Given the description of an element on the screen output the (x, y) to click on. 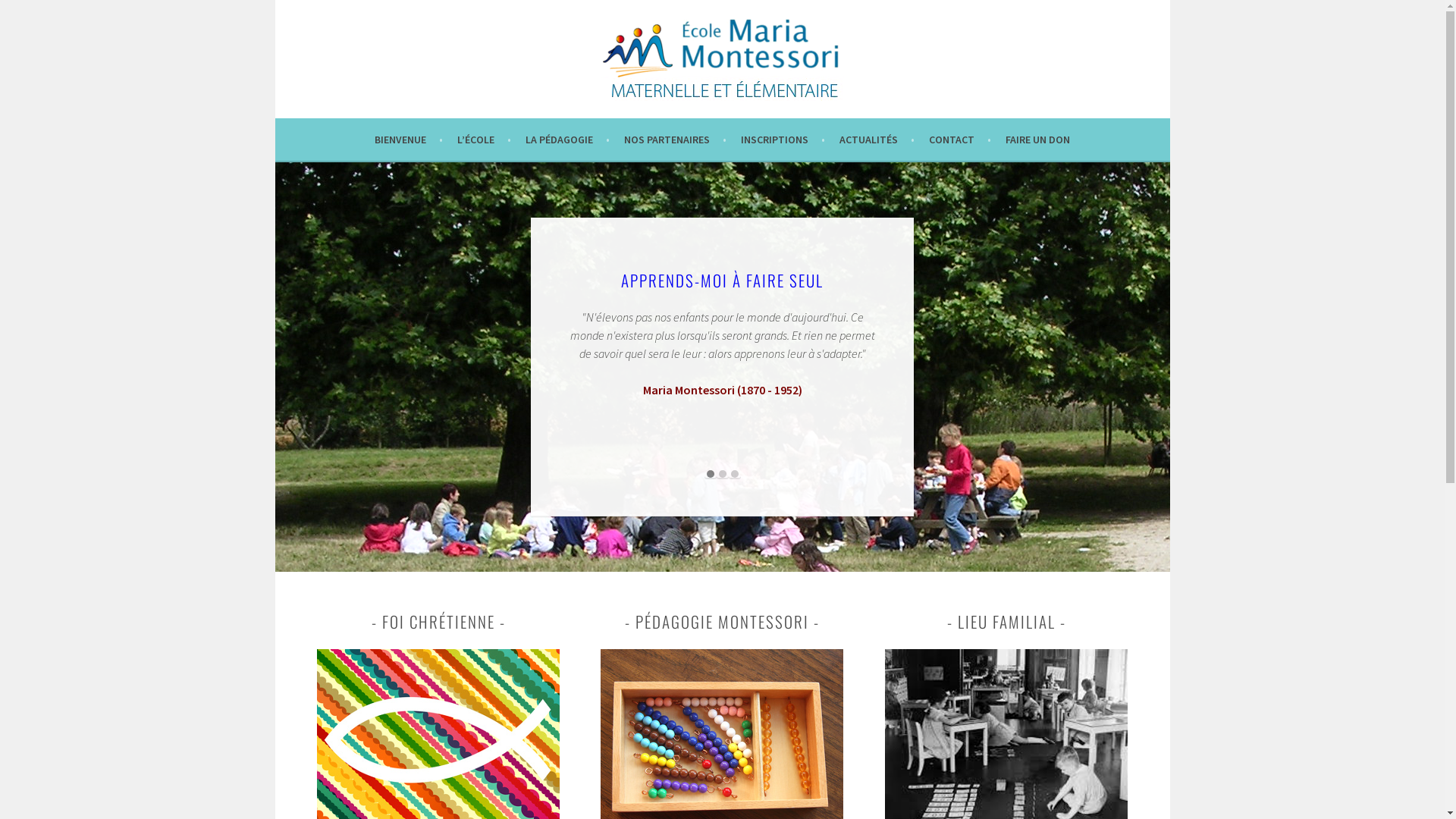
CONTACT Element type: text (959, 139)
NOS PARTENAIRES Element type: text (675, 139)
INSCRIPTIONS Element type: text (782, 139)
BIENVENUE Element type: text (408, 139)
FAIRE UN DON Element type: text (1037, 139)
